Given the description of an element on the screen output the (x, y) to click on. 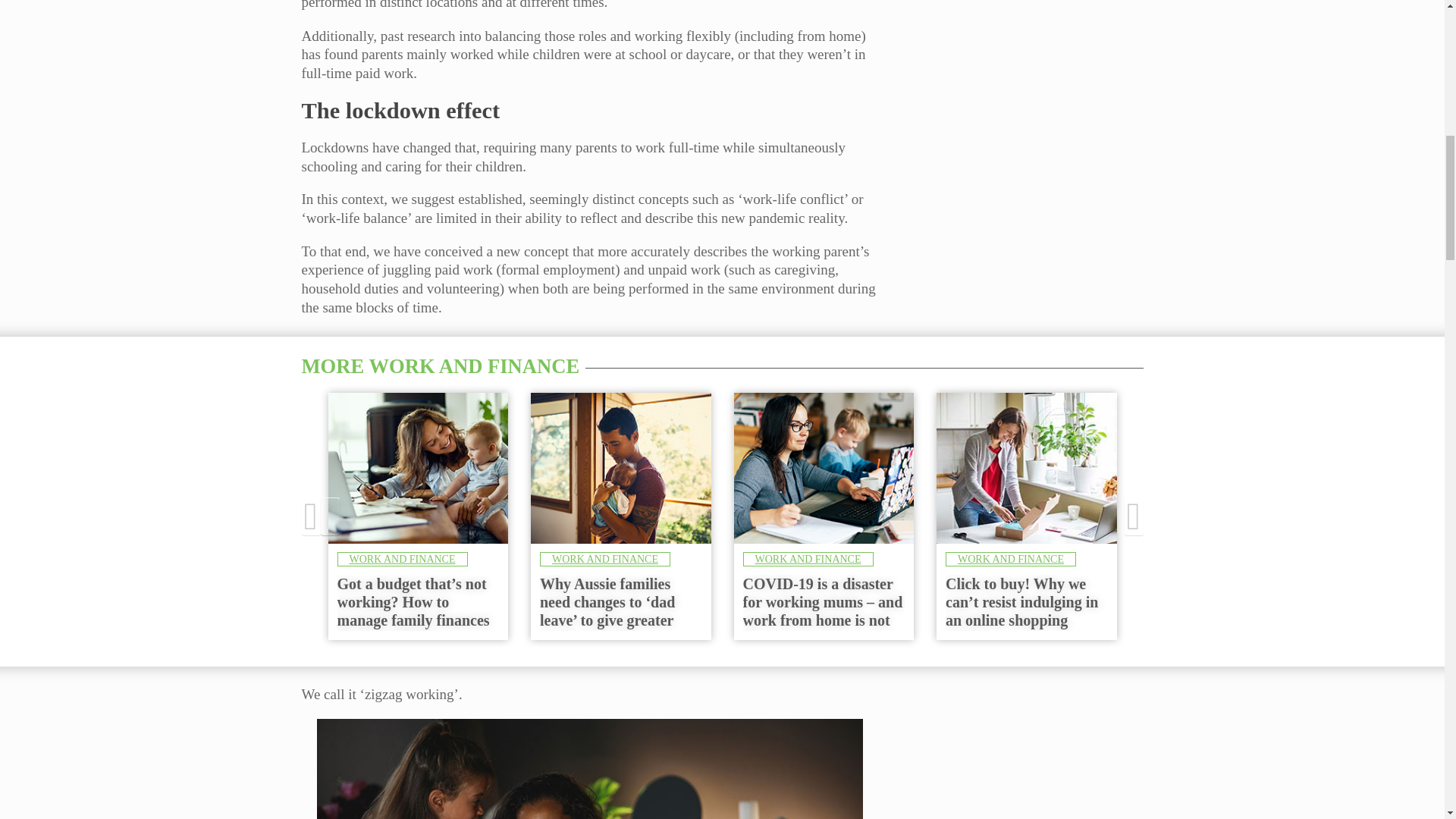
Previous (1133, 516)
